Given the description of an element on the screen output the (x, y) to click on. 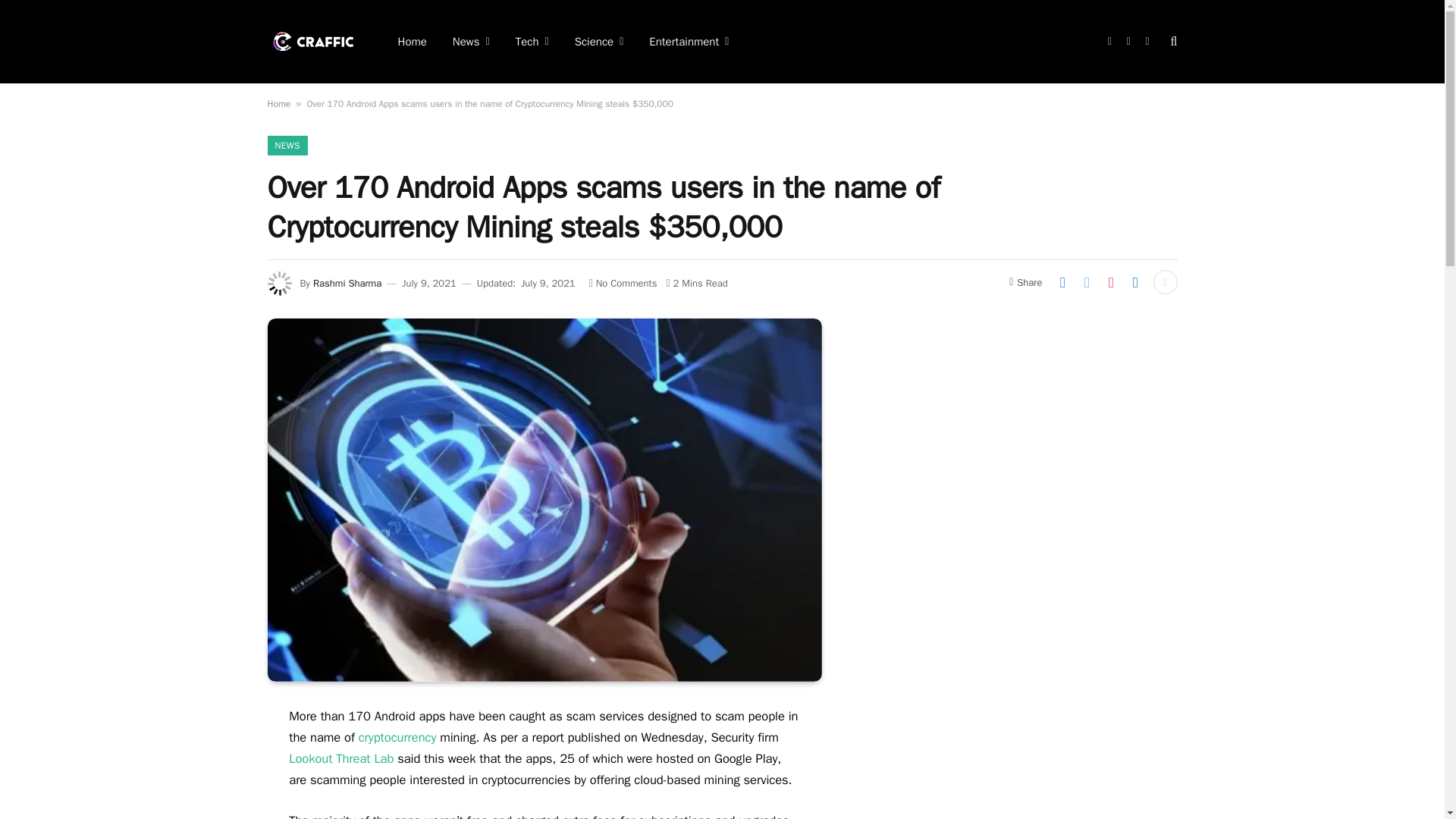
Entertainment (688, 41)
Share on Facebook (1062, 282)
Science (599, 41)
Show More Social Sharing (1164, 282)
Share on Pinterest (1110, 282)
Craffic (312, 41)
Share on LinkedIn (1135, 282)
